Given the description of an element on the screen output the (x, y) to click on. 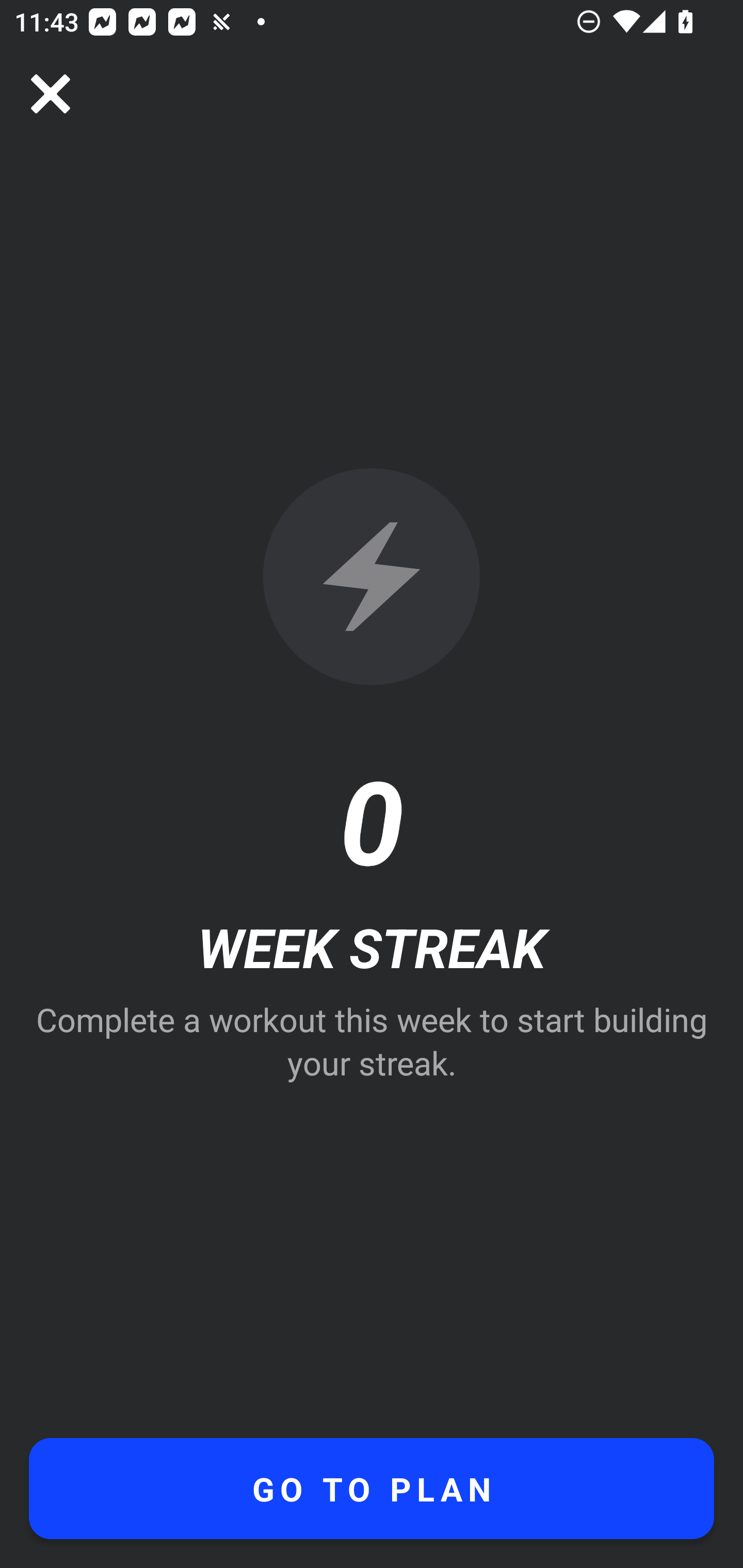
Close screen (50, 93)
GO TO PLAN (371, 1488)
